Given the description of an element on the screen output the (x, y) to click on. 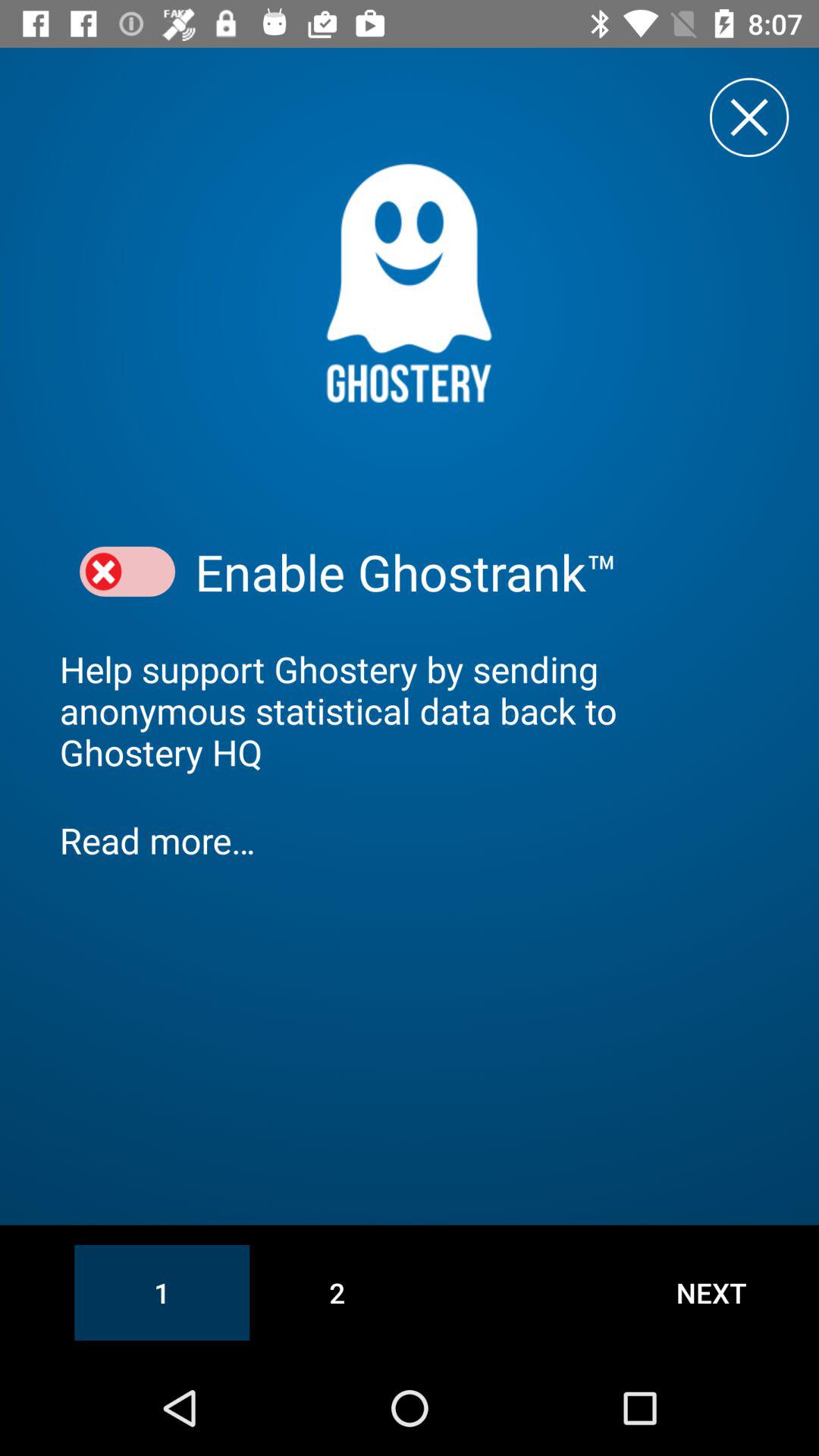
launch icon next to the 2 icon (711, 1292)
